Given the description of an element on the screen output the (x, y) to click on. 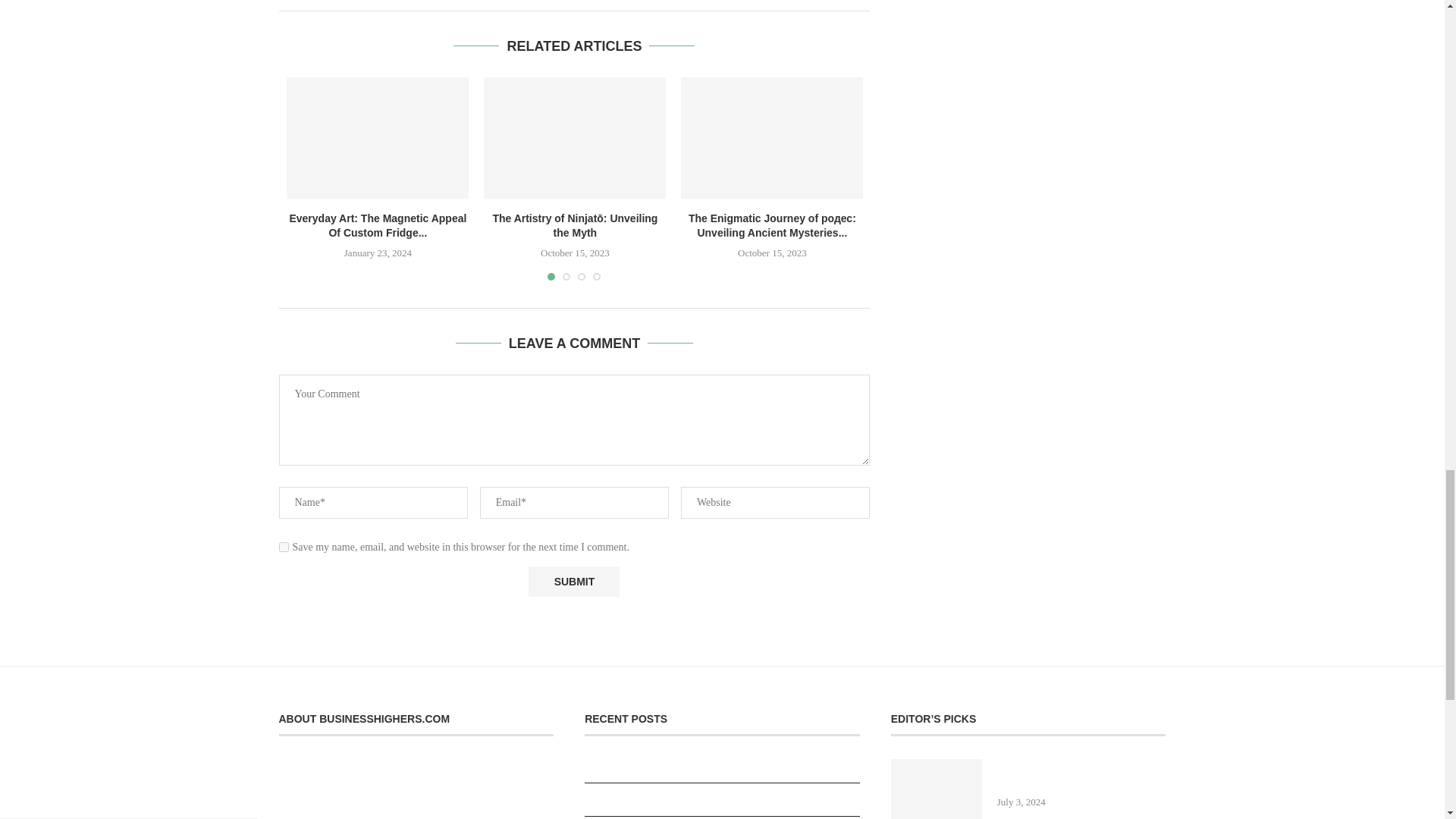
Everyday Art: The Magnetic Appeal Of Custom Fridge... (376, 225)
Submit (574, 581)
yes (283, 547)
Everyday Art: The Magnetic Appeal Of Custom Fridge Magnets (377, 137)
